Given the description of an element on the screen output the (x, y) to click on. 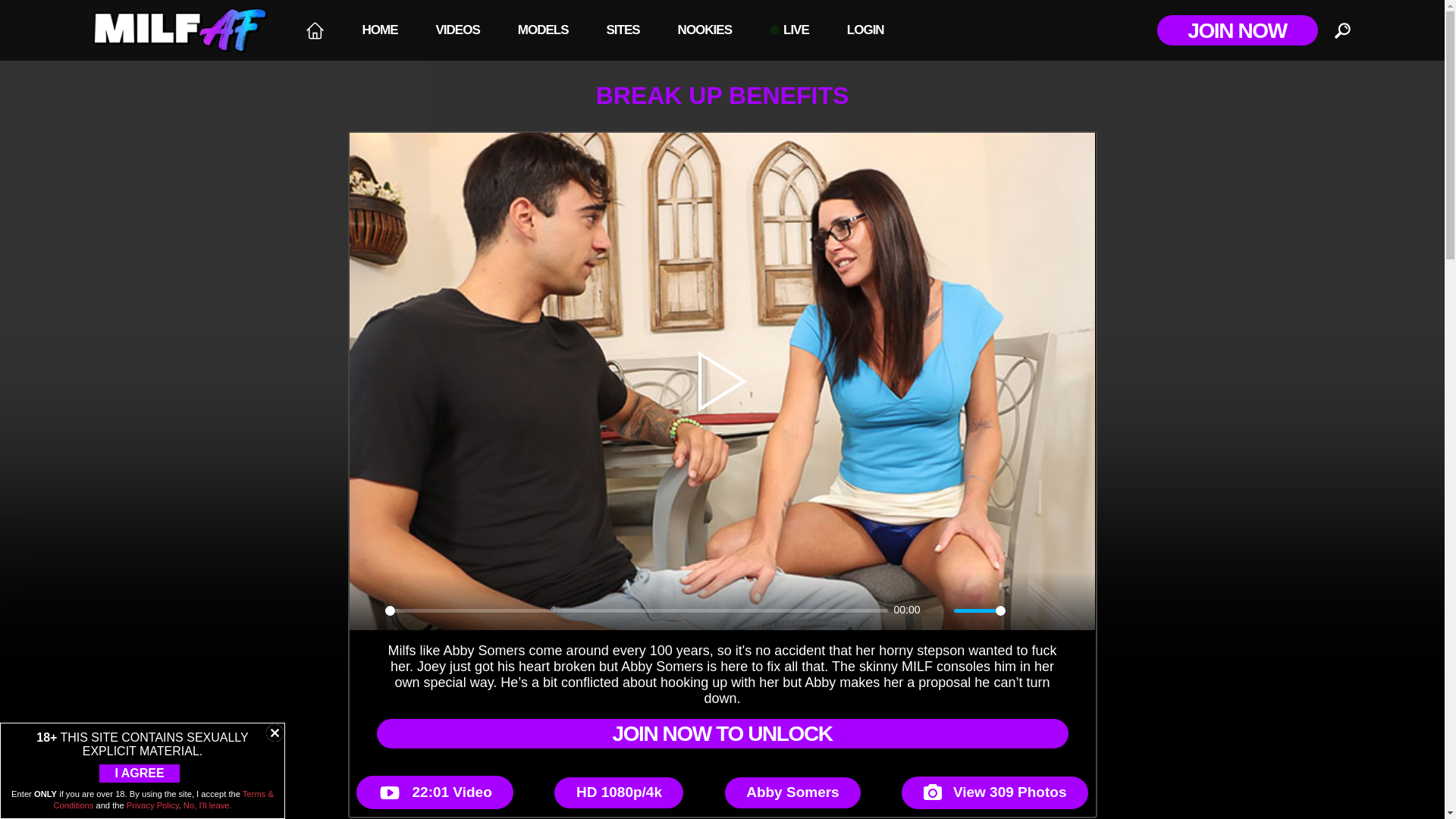
Abby Somers (792, 792)
LOGIN (865, 30)
SITES (622, 30)
Settings (1023, 610)
VIDEOS (458, 30)
1 (979, 610)
MODELS (542, 30)
View 309 Photos (994, 792)
0 (636, 610)
Play (368, 610)
NOOKIES (704, 30)
JOIN NOW (1237, 30)
Enter fullscreen (1074, 610)
HOME (379, 30)
PIP (1048, 610)
